Given the description of an element on the screen output the (x, y) to click on. 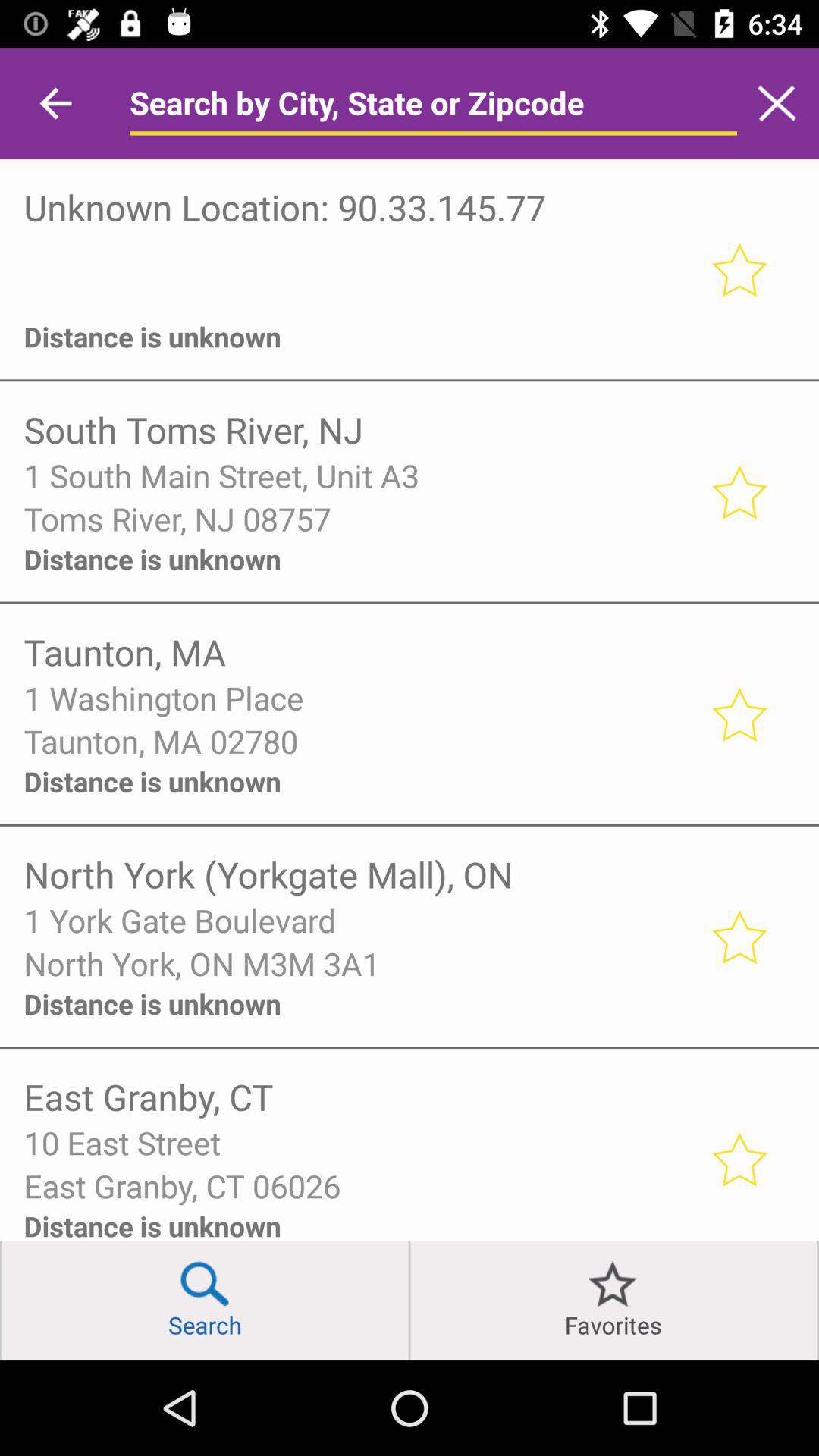
favorite (738, 936)
